Given the description of an element on the screen output the (x, y) to click on. 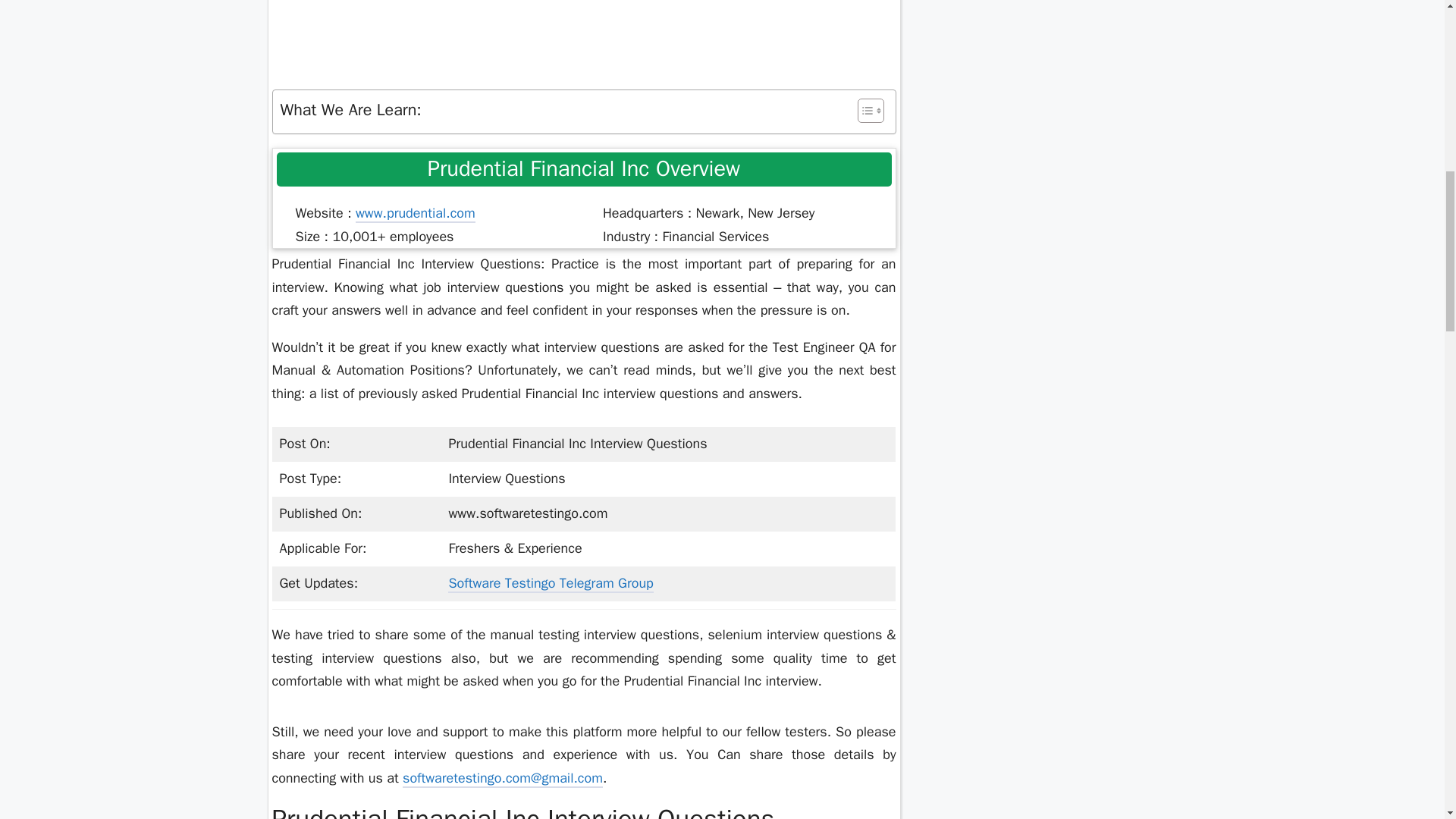
Advertisement (583, 28)
www.prudential.com (415, 214)
